Given the description of an element on the screen output the (x, y) to click on. 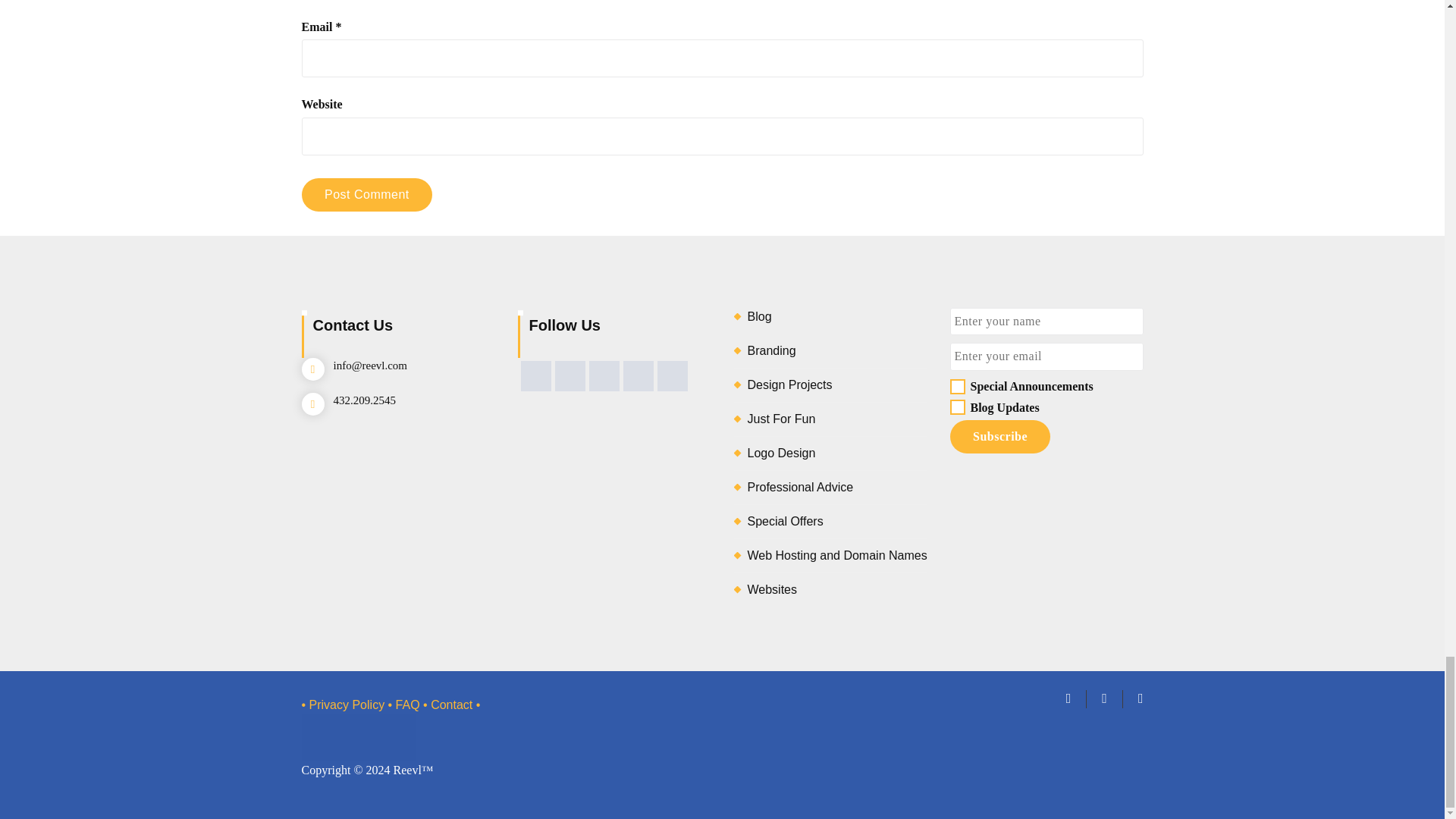
Subscribe (999, 436)
c6b1229c27a7 (956, 386)
Post Comment (366, 194)
f0509ba12127 (956, 406)
